Given the description of an element on the screen output the (x, y) to click on. 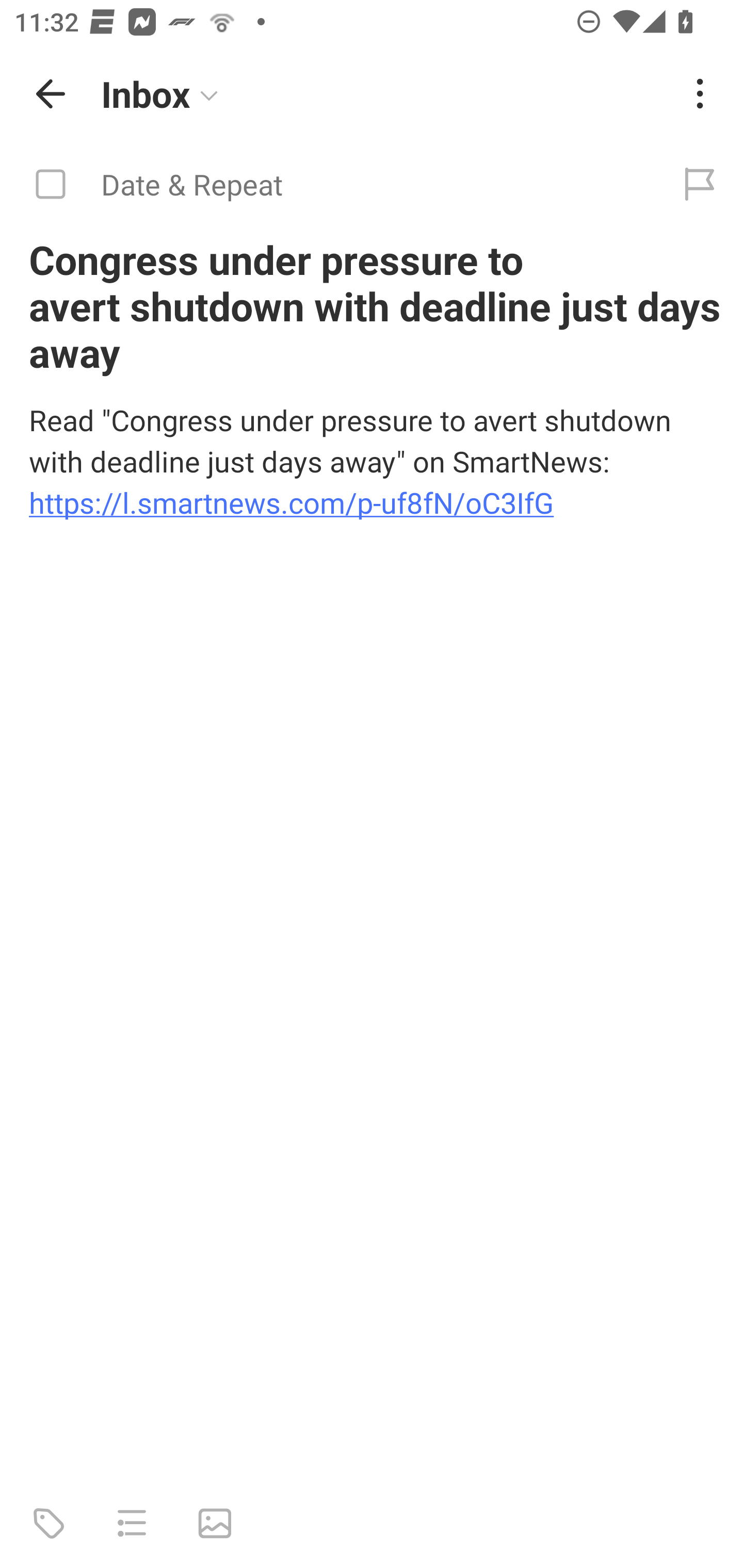
Inbox (384, 93)
Date & Repeat (328, 184)
